Given the description of an element on the screen output the (x, y) to click on. 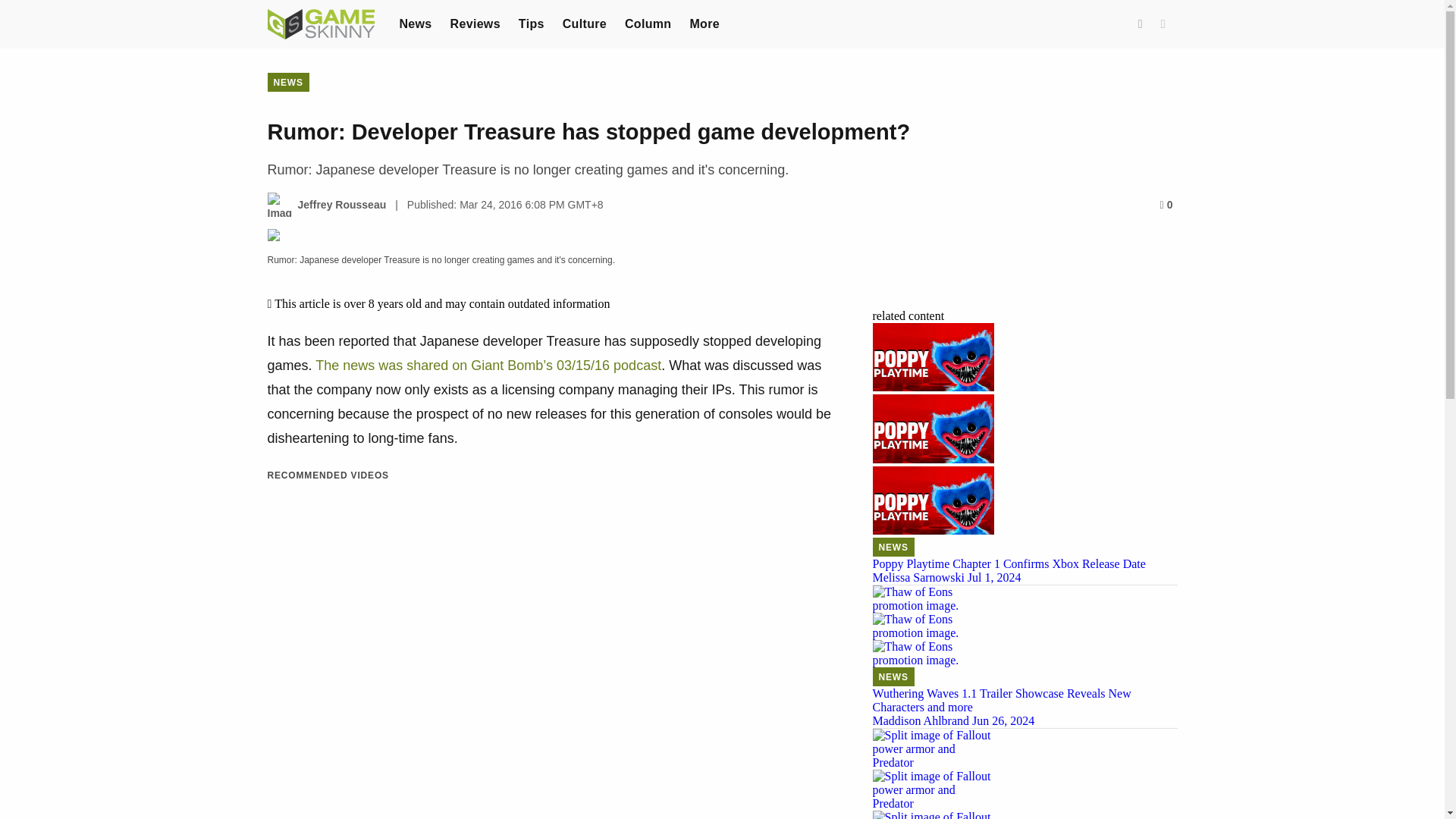
Reviews (474, 23)
News (414, 23)
Culture (584, 23)
Tips (531, 23)
Column (647, 23)
